Given the description of an element on the screen output the (x, y) to click on. 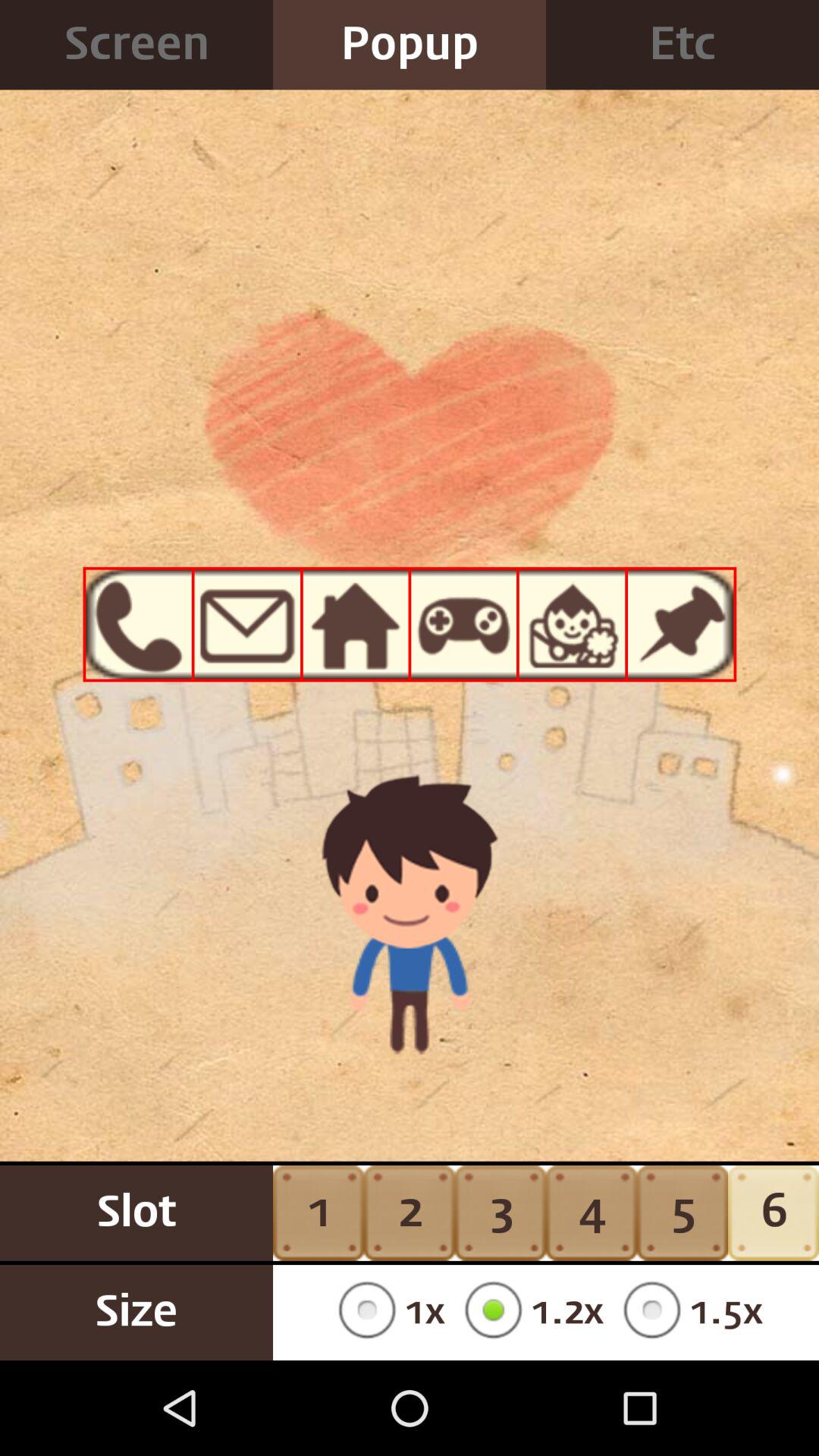
tap app to the right of the slot app (386, 1312)
